Given the description of an element on the screen output the (x, y) to click on. 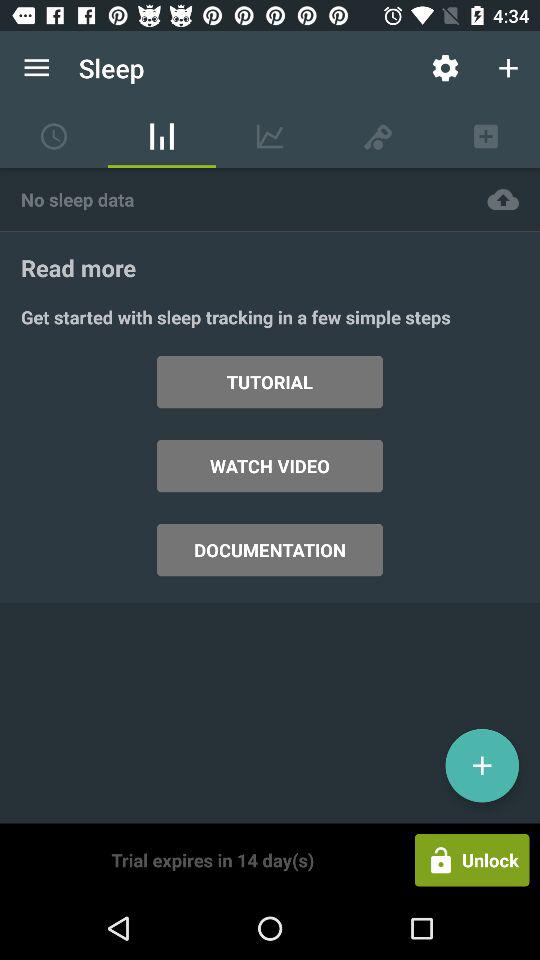
turn on icon above read more item (503, 198)
